Given the description of an element on the screen output the (x, y) to click on. 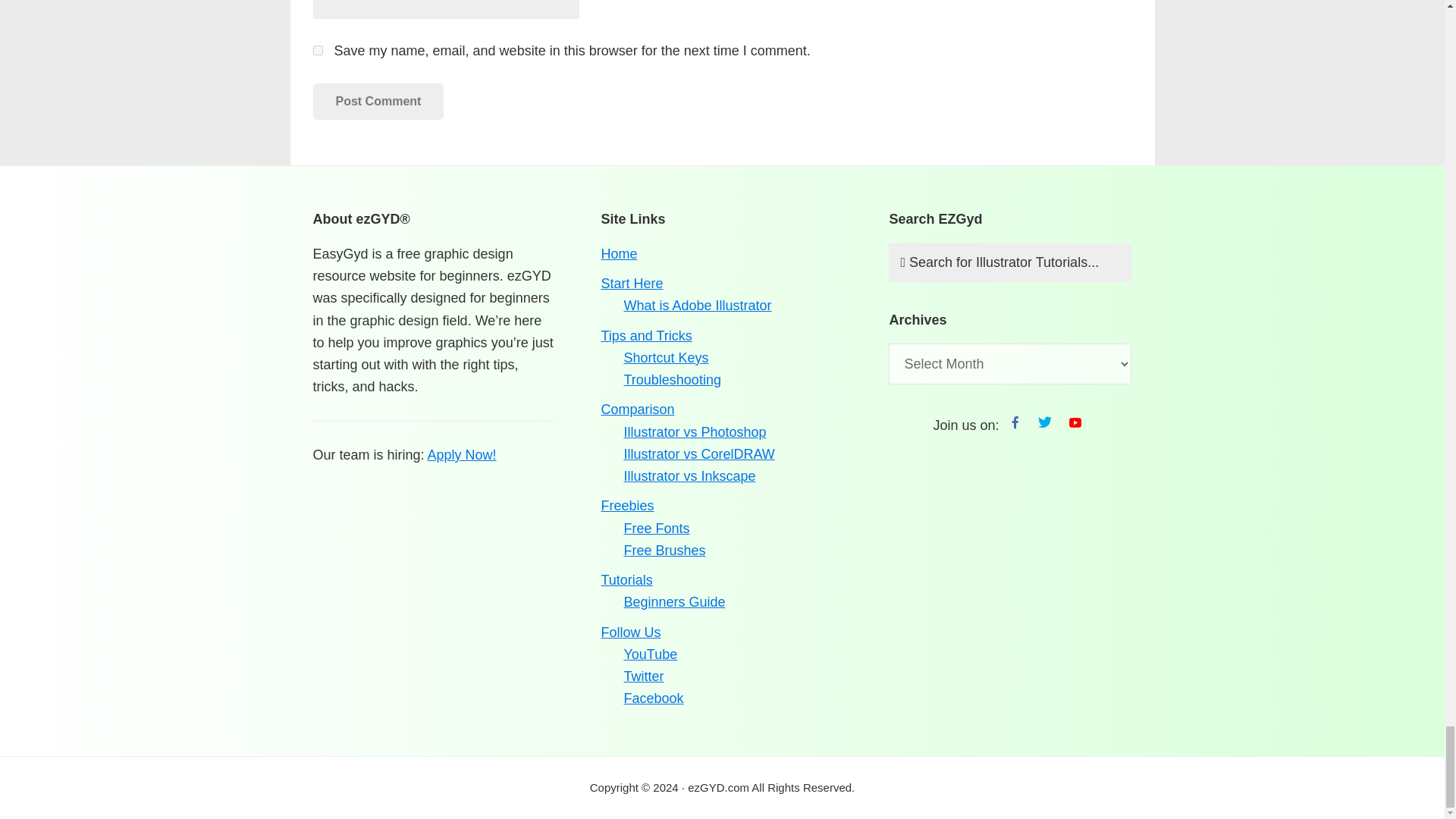
yes (317, 50)
Post Comment (378, 101)
Apply Now to Join EZGyd (462, 454)
